Given the description of an element on the screen output the (x, y) to click on. 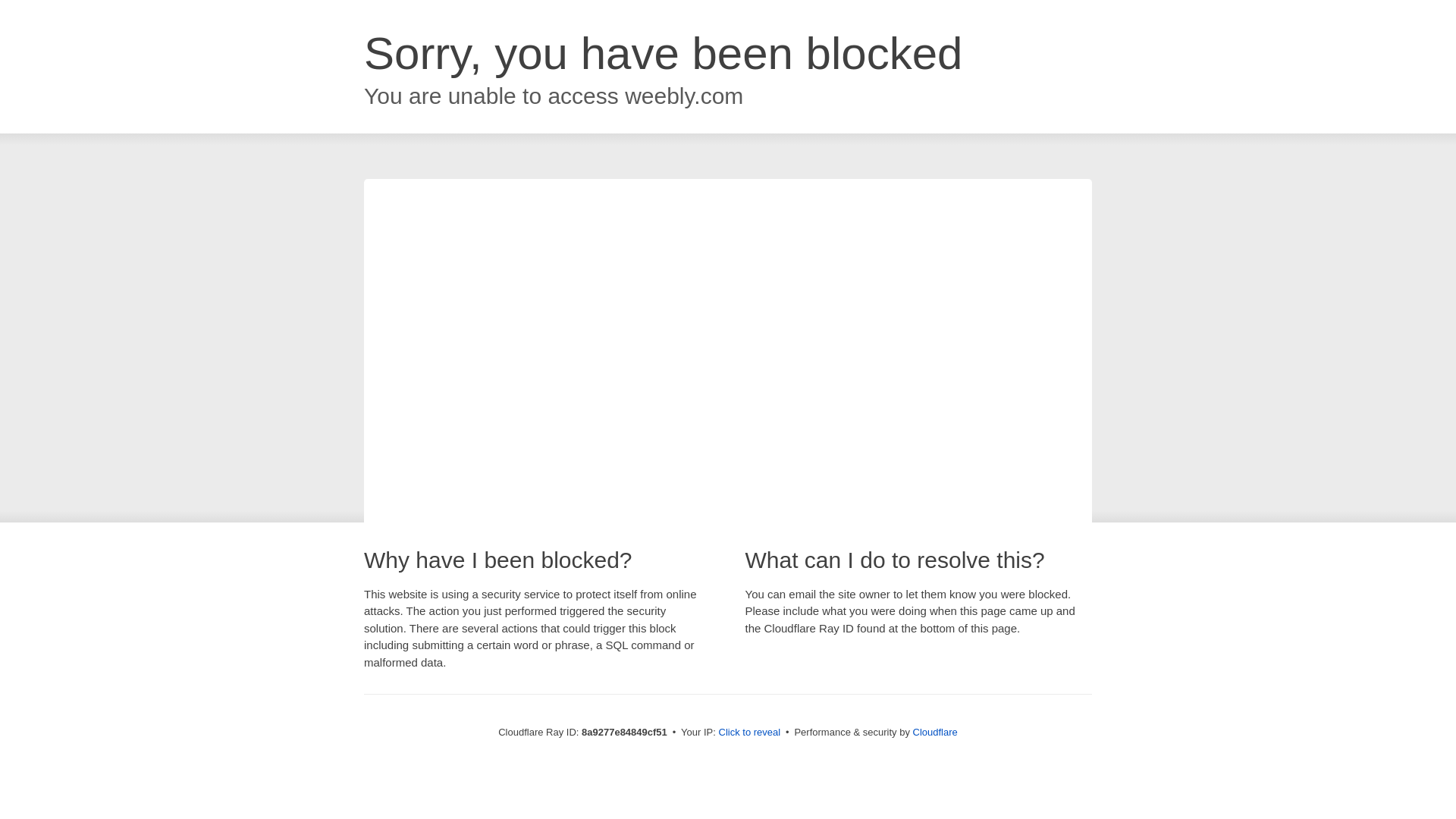
Cloudflare (935, 731)
Click to reveal (749, 732)
